Given the description of an element on the screen output the (x, y) to click on. 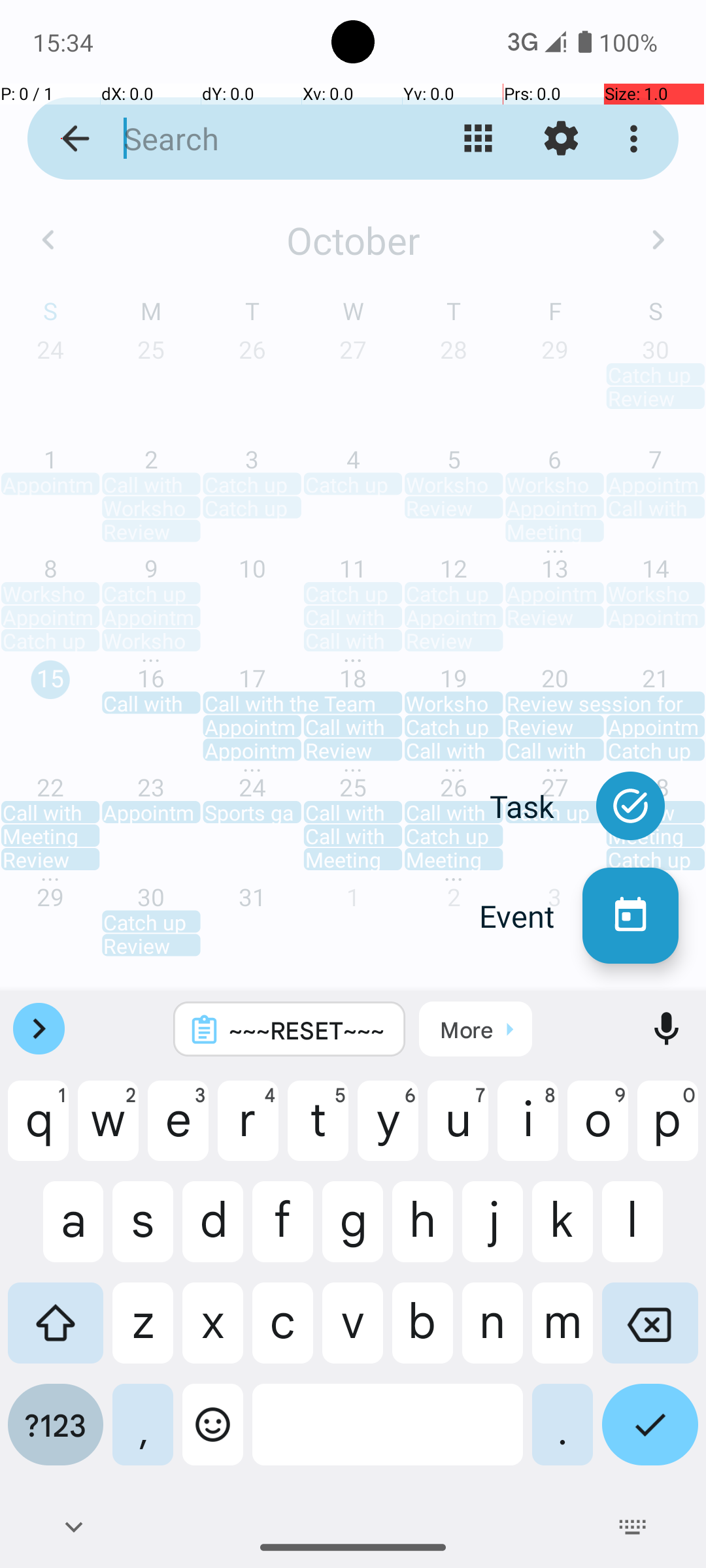
Task Element type: android.widget.TextView (535, 805)
Event Element type: android.widget.TextView (530, 915)
